Given the description of an element on the screen output the (x, y) to click on. 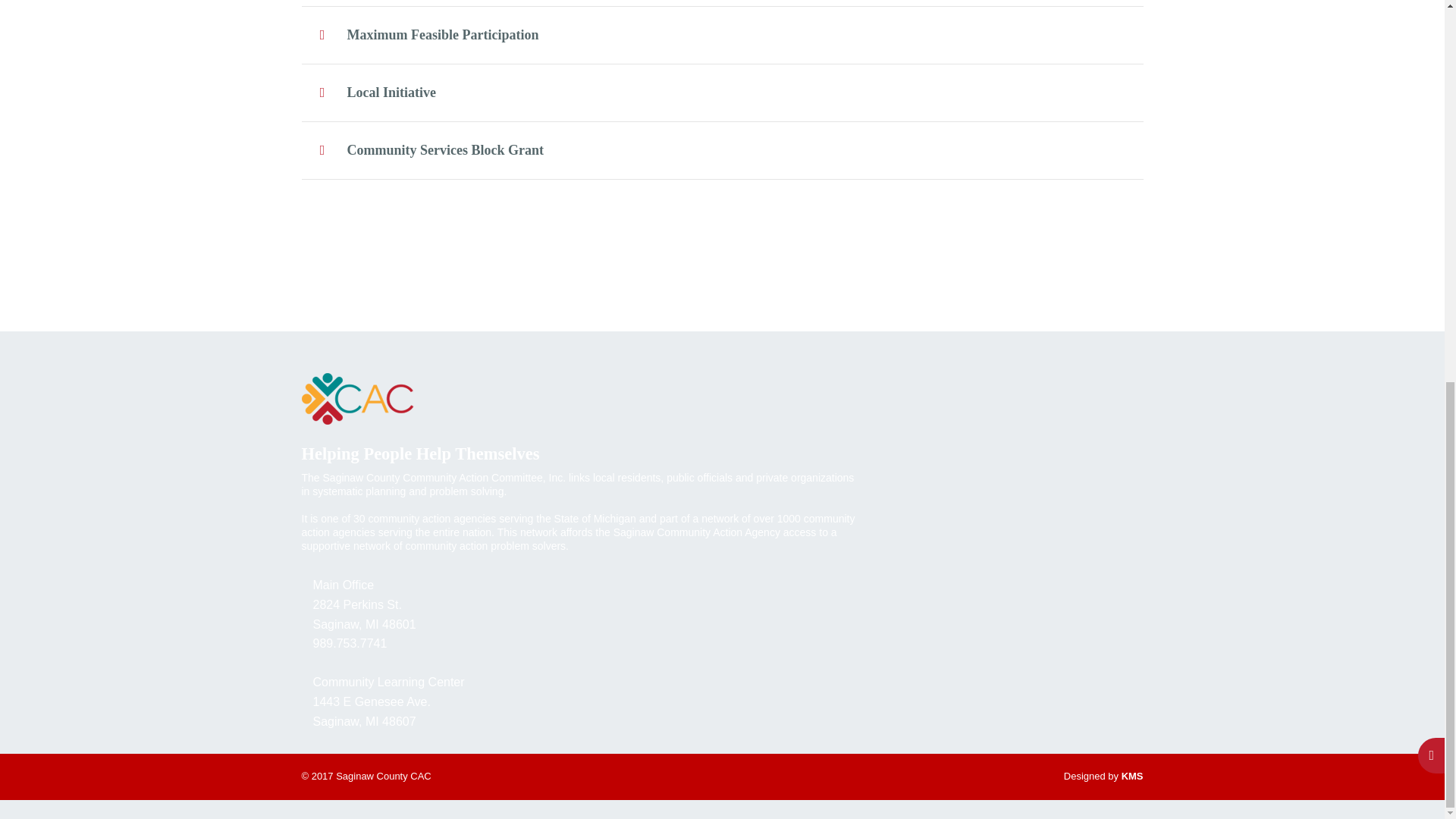
Community Services Block Grant (721, 150)
Maximum Feasible Participation (721, 34)
KMS (1131, 776)
Local Initiative (721, 92)
